Given the description of an element on the screen output the (x, y) to click on. 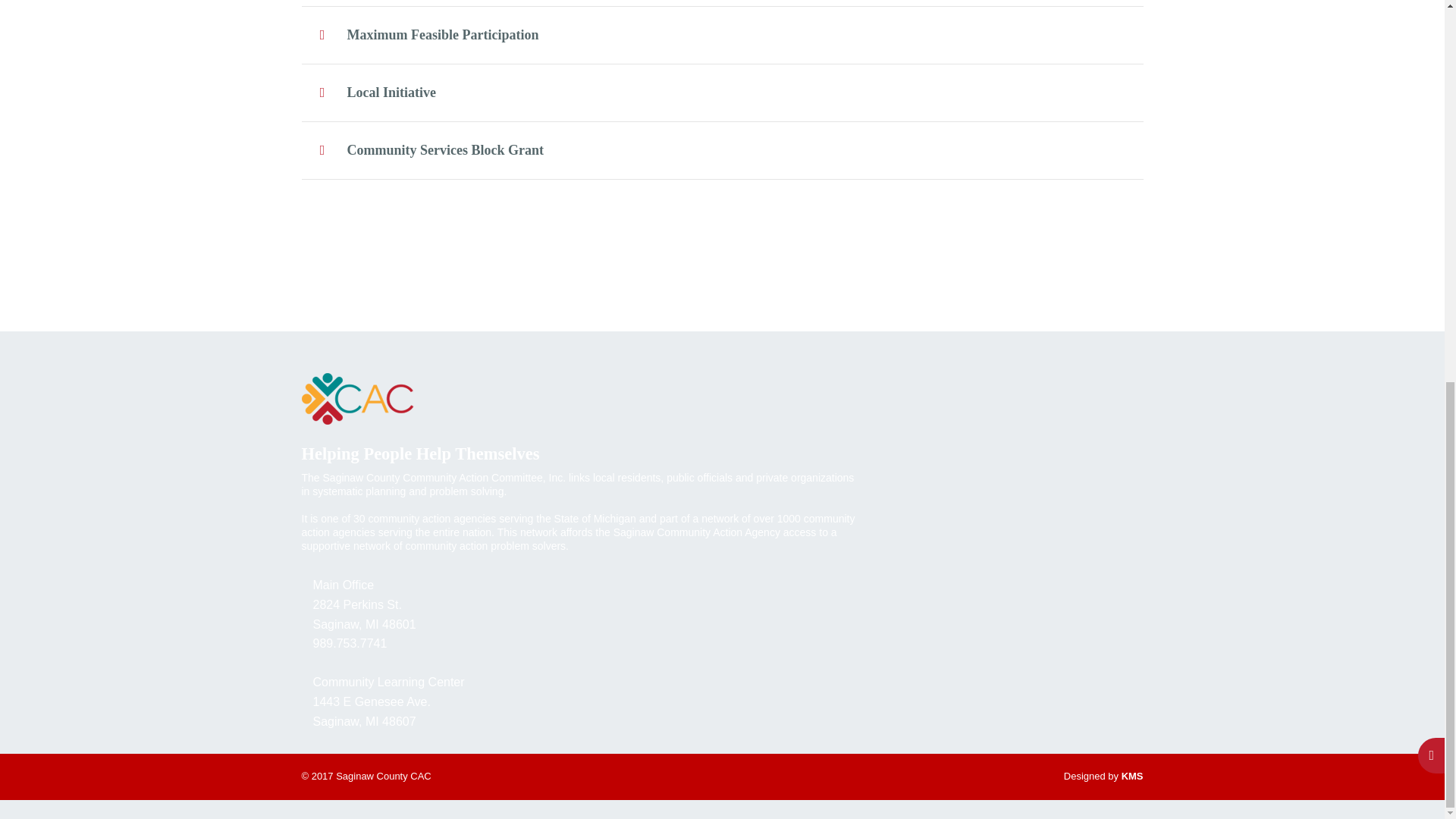
Community Services Block Grant (721, 150)
Maximum Feasible Participation (721, 34)
KMS (1131, 776)
Local Initiative (721, 92)
